Given the description of an element on the screen output the (x, y) to click on. 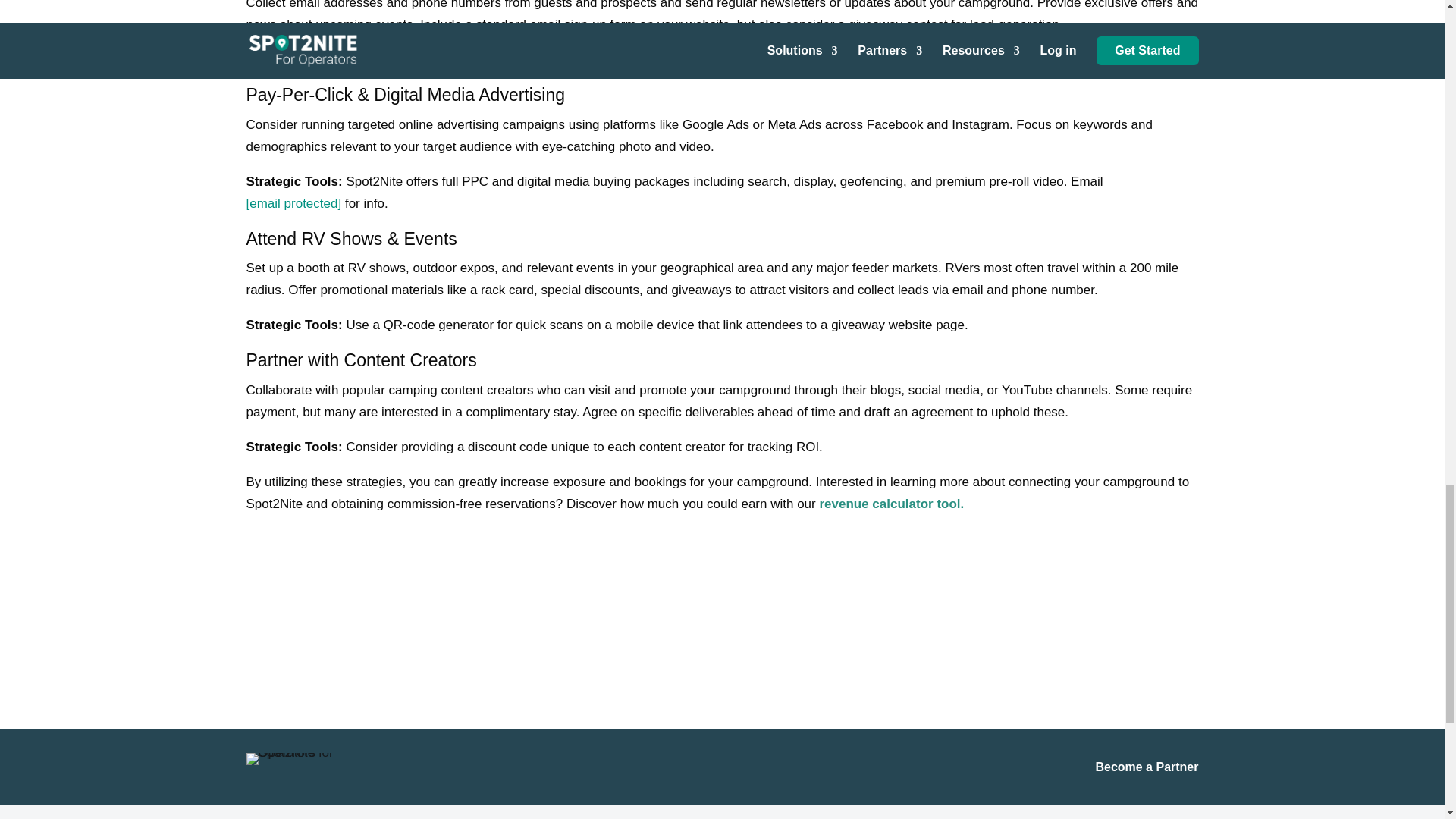
Spot2Nite for Operators (302, 758)
Become a Partner (1146, 766)
revenue calculator tool. (890, 503)
